Given the description of an element on the screen output the (x, y) to click on. 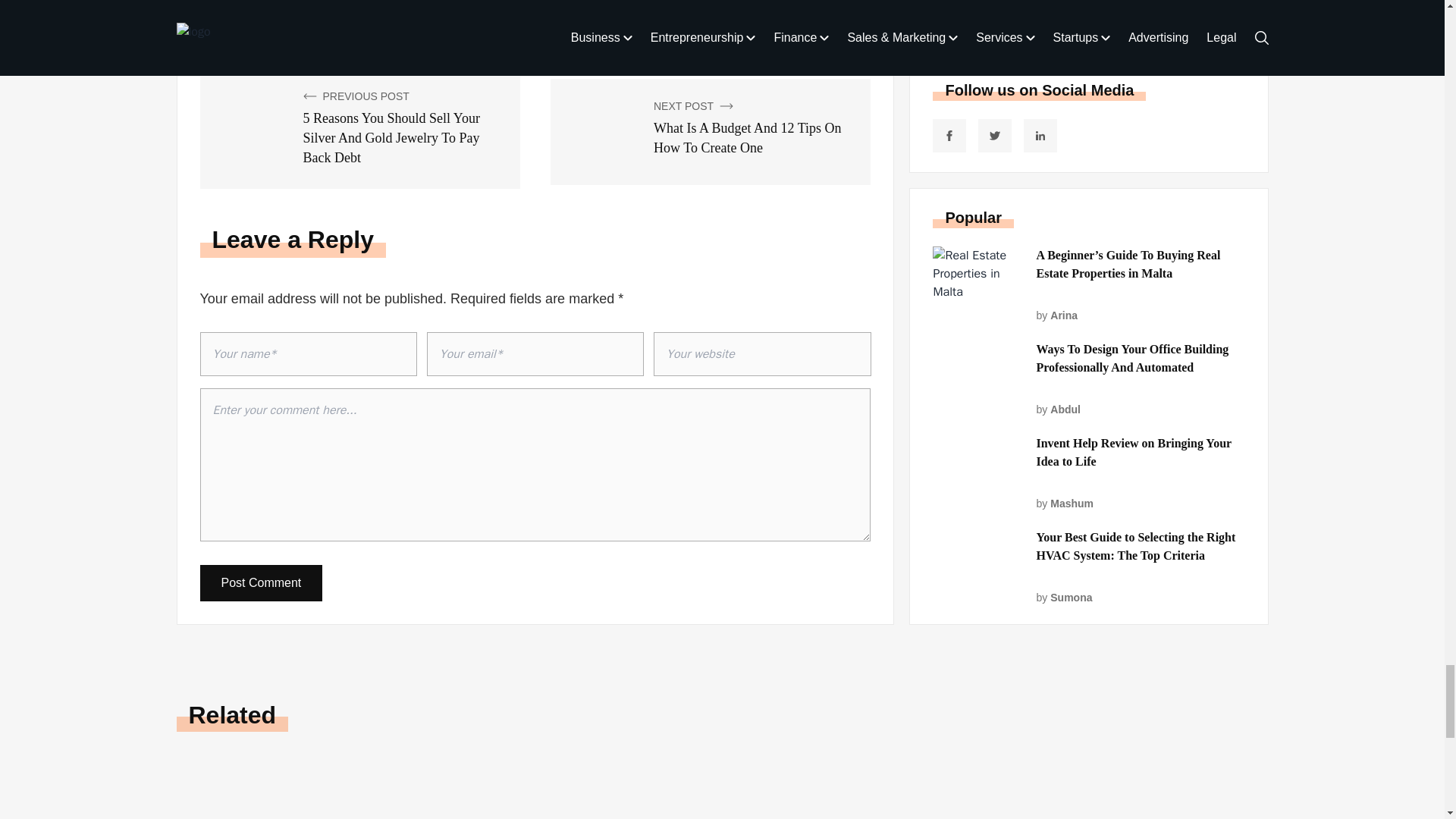
Post Comment (261, 583)
